Given the description of an element on the screen output the (x, y) to click on. 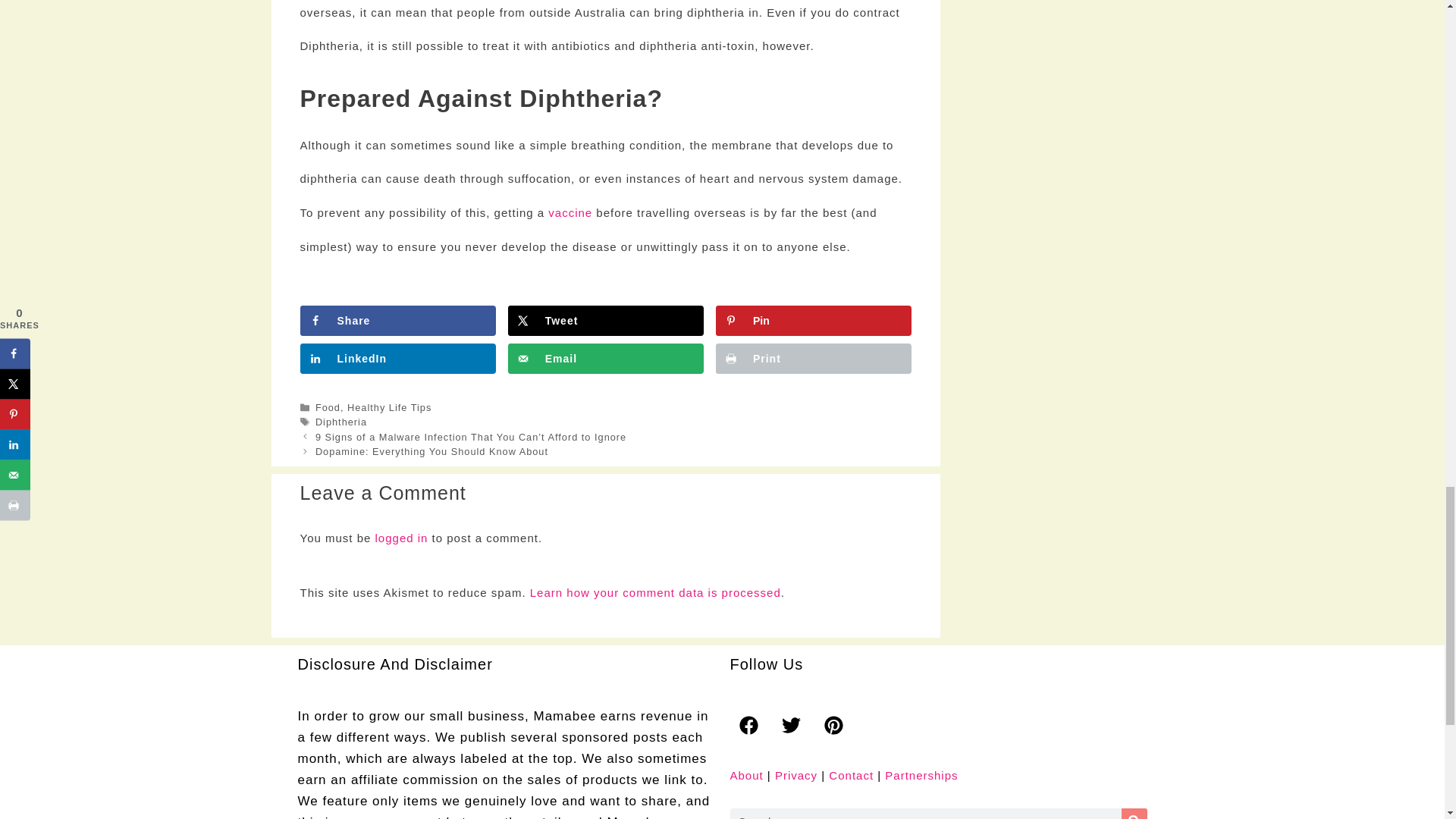
Save to Pinterest (813, 320)
Print this webpage (813, 358)
Share on Facebook (397, 320)
Share on LinkedIn (397, 358)
Share on X (605, 320)
Send over email (605, 358)
